Given the description of an element on the screen output the (x, y) to click on. 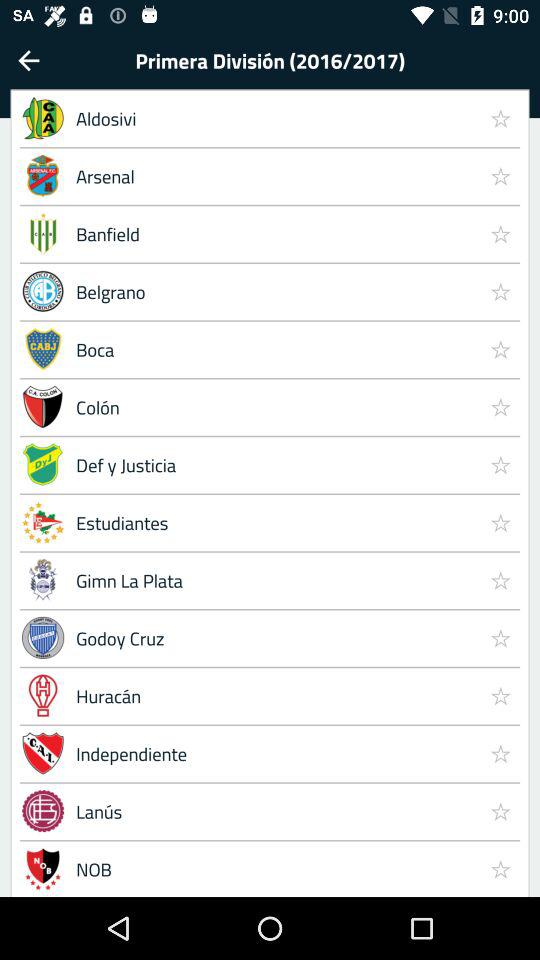
turn off nob icon (273, 868)
